Given the description of an element on the screen output the (x, y) to click on. 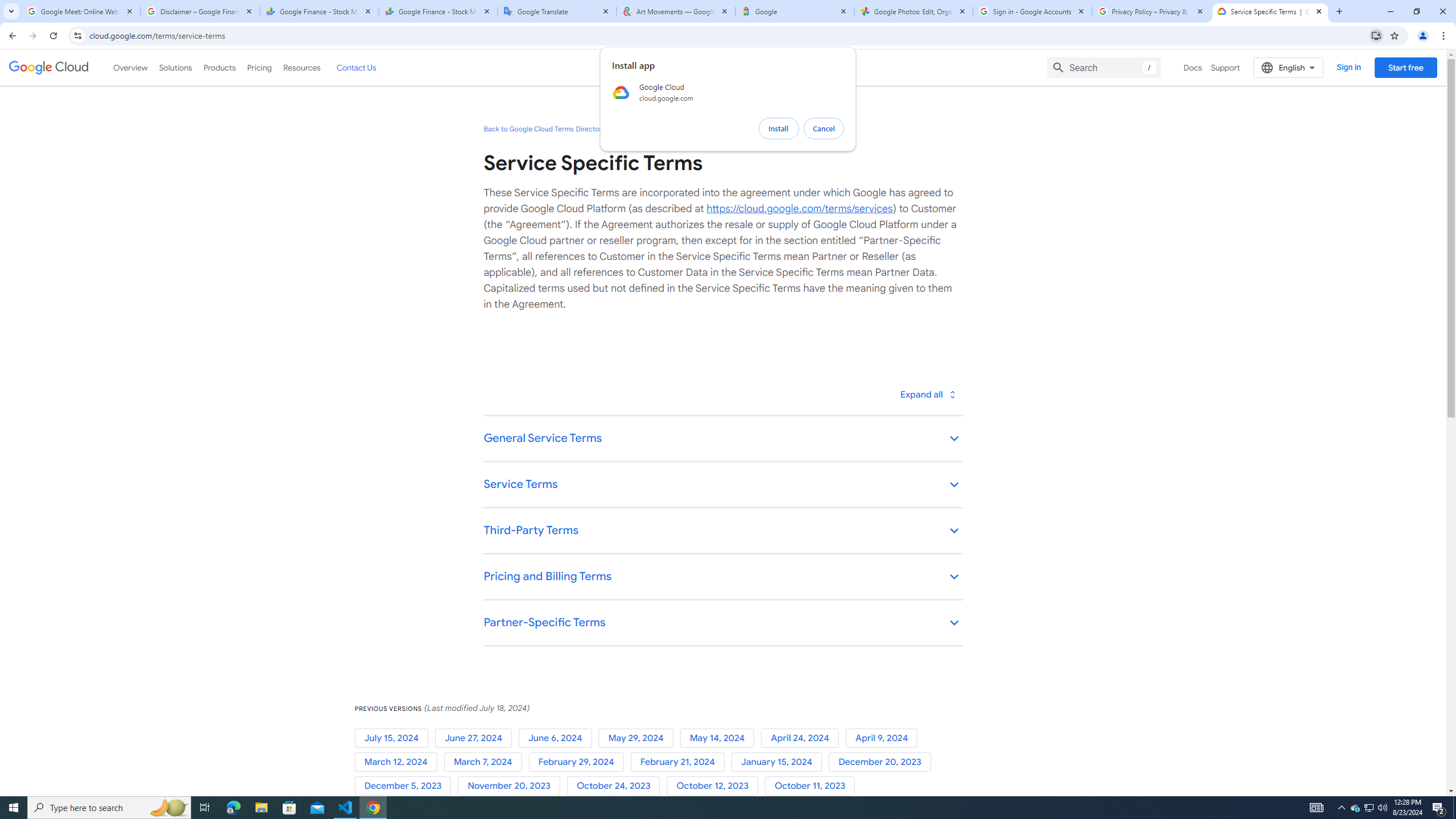
Cancel (823, 128)
February 29, 2024 (579, 761)
English (1288, 67)
Start free (1405, 67)
Install (778, 128)
October 11, 2023 (812, 786)
December 5, 2023 (405, 786)
Install Google Cloud (1376, 35)
November 20, 2023 (511, 786)
Pricing and Billing Terms keyboard_arrow_down (722, 577)
Solutions (175, 67)
